Given the description of an element on the screen output the (x, y) to click on. 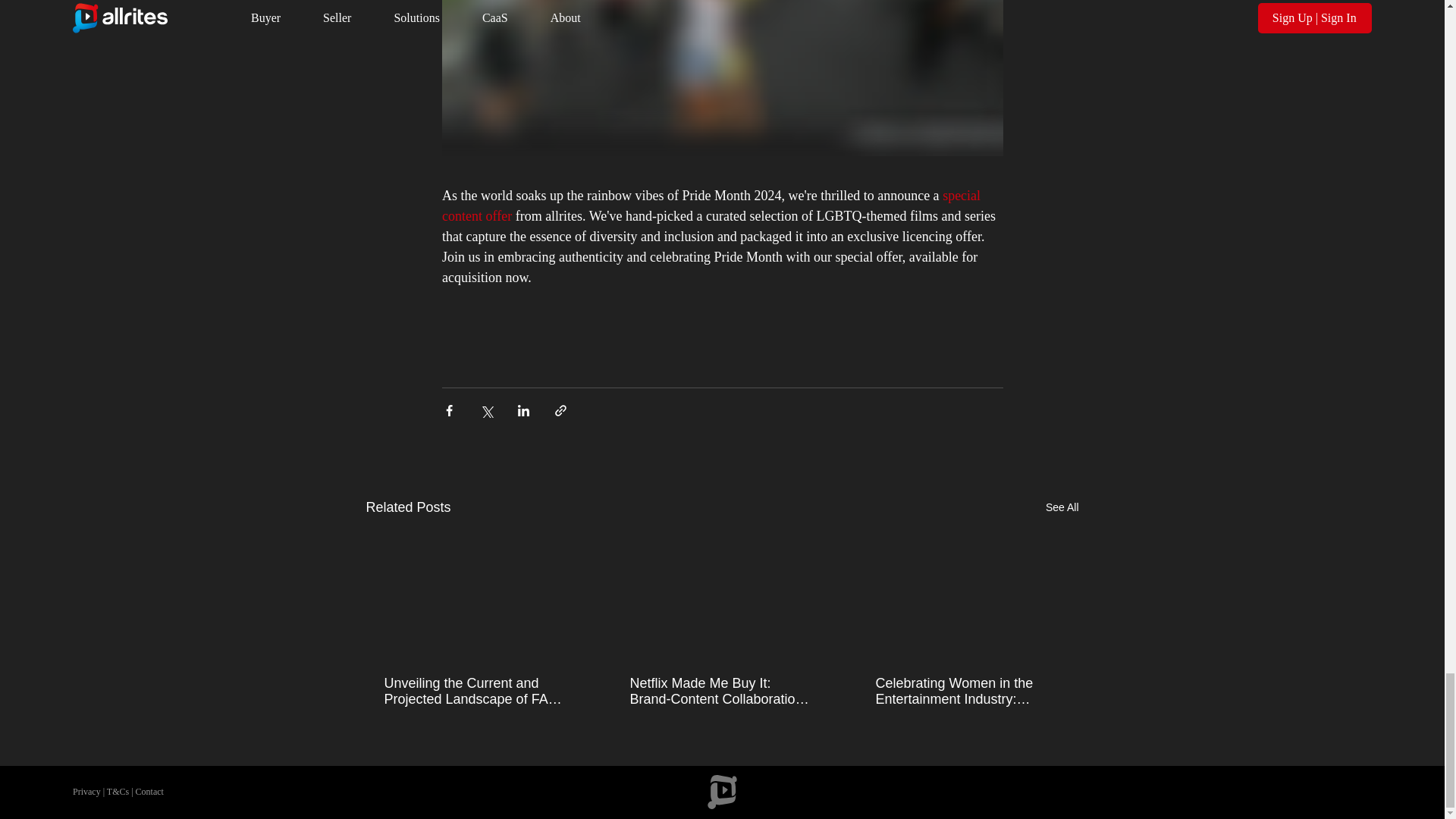
special content offer (712, 205)
See All (1061, 507)
